Given the description of an element on the screen output the (x, y) to click on. 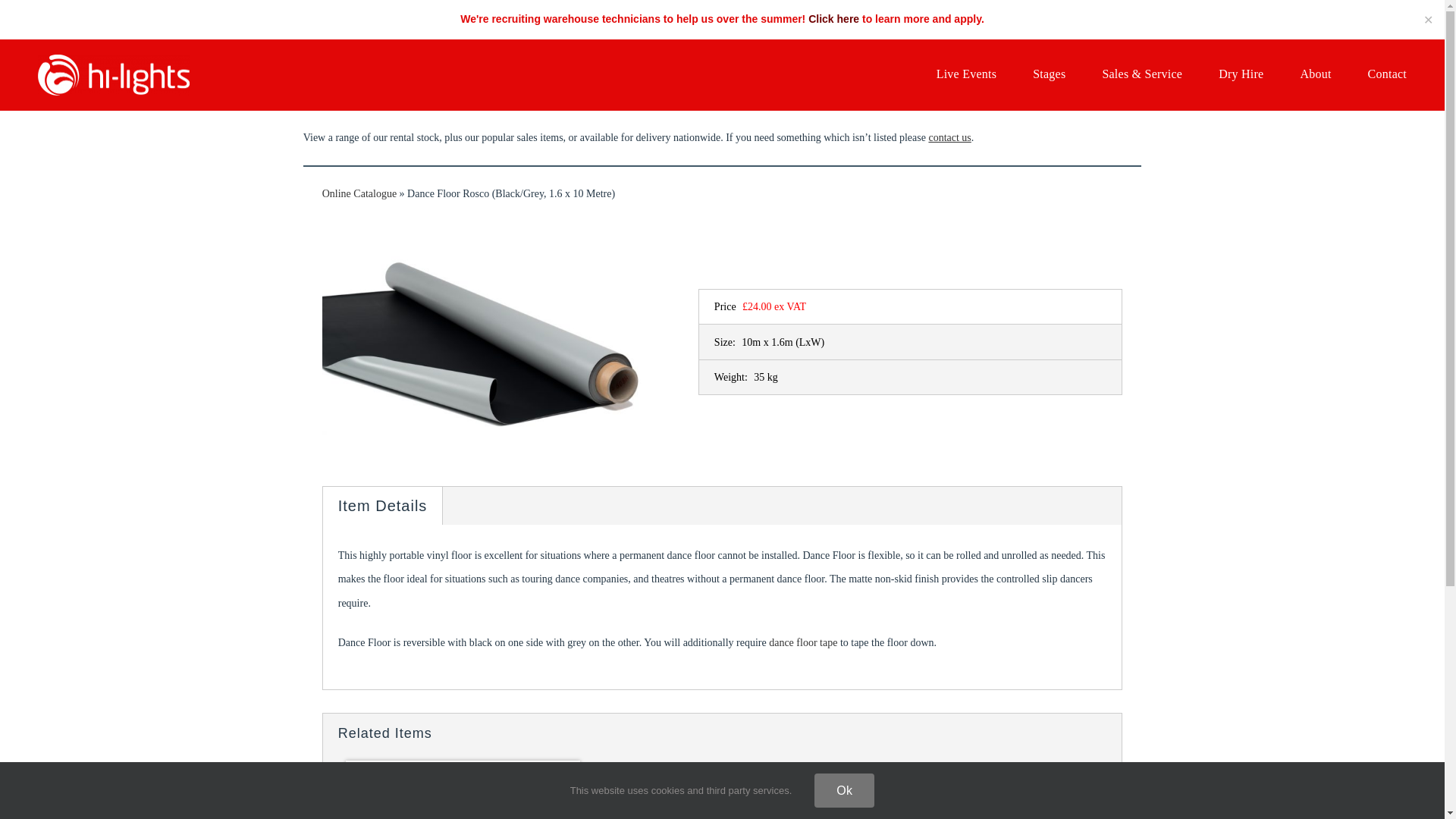
Click here (833, 19)
Online Catalogue (358, 193)
About (1315, 74)
Live Events (966, 74)
Stages (1048, 74)
Contact (1387, 74)
dance floor tape (802, 642)
contact us (949, 137)
Item Details (382, 505)
Dry Hire (1240, 74)
